Given the description of an element on the screen output the (x, y) to click on. 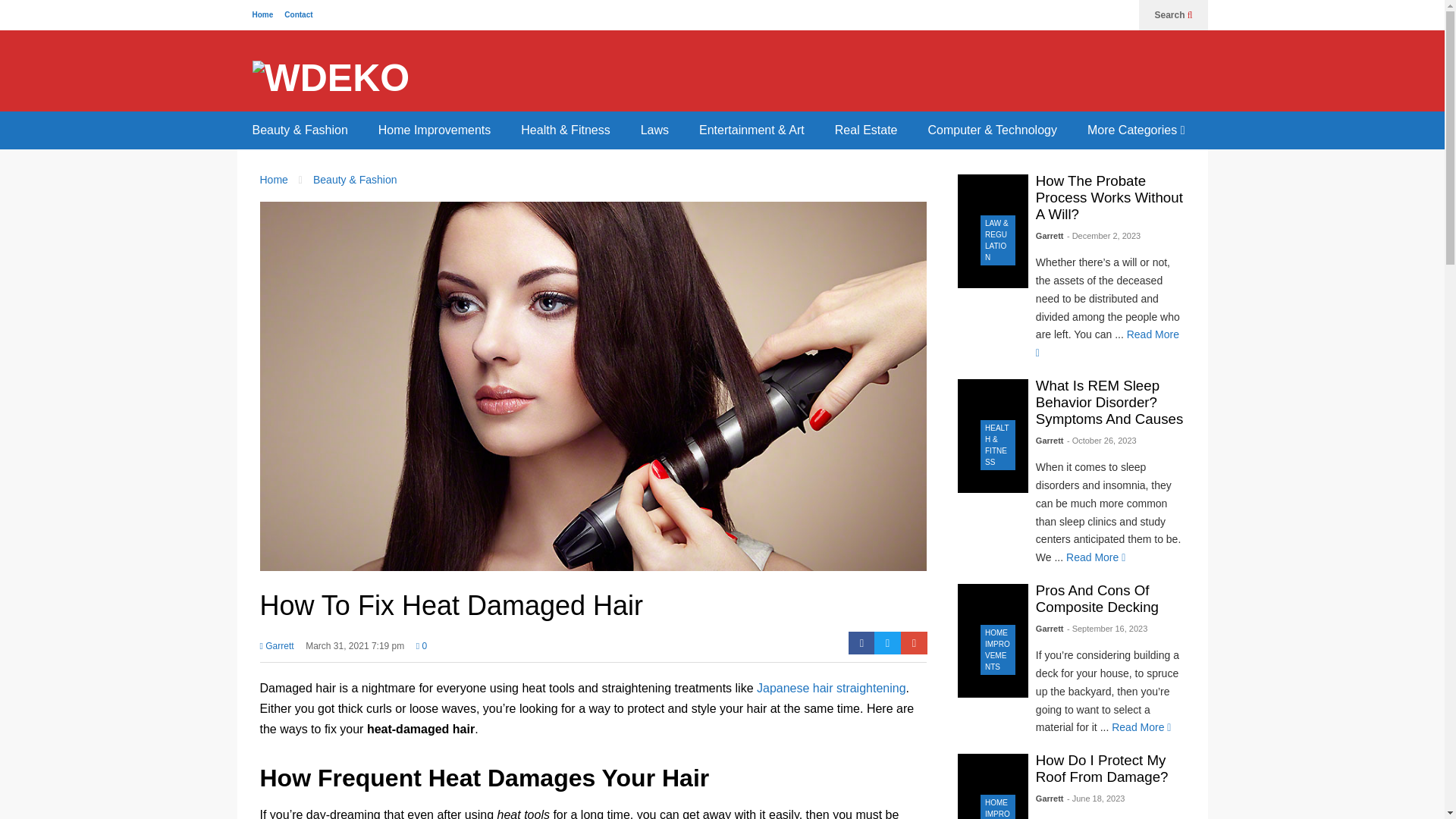
Japanese hair straightening (831, 687)
Real Estate (865, 130)
Facebook (861, 642)
WDEKO (330, 78)
How The Probate Process Works Without A Will? (1108, 196)
Search (1173, 15)
What Is REM Sleep Behavior Disorder? Symptoms And Causes (1108, 401)
Home (262, 14)
Google-plus (914, 642)
Home Improvements (434, 130)
